Given the description of an element on the screen output the (x, y) to click on. 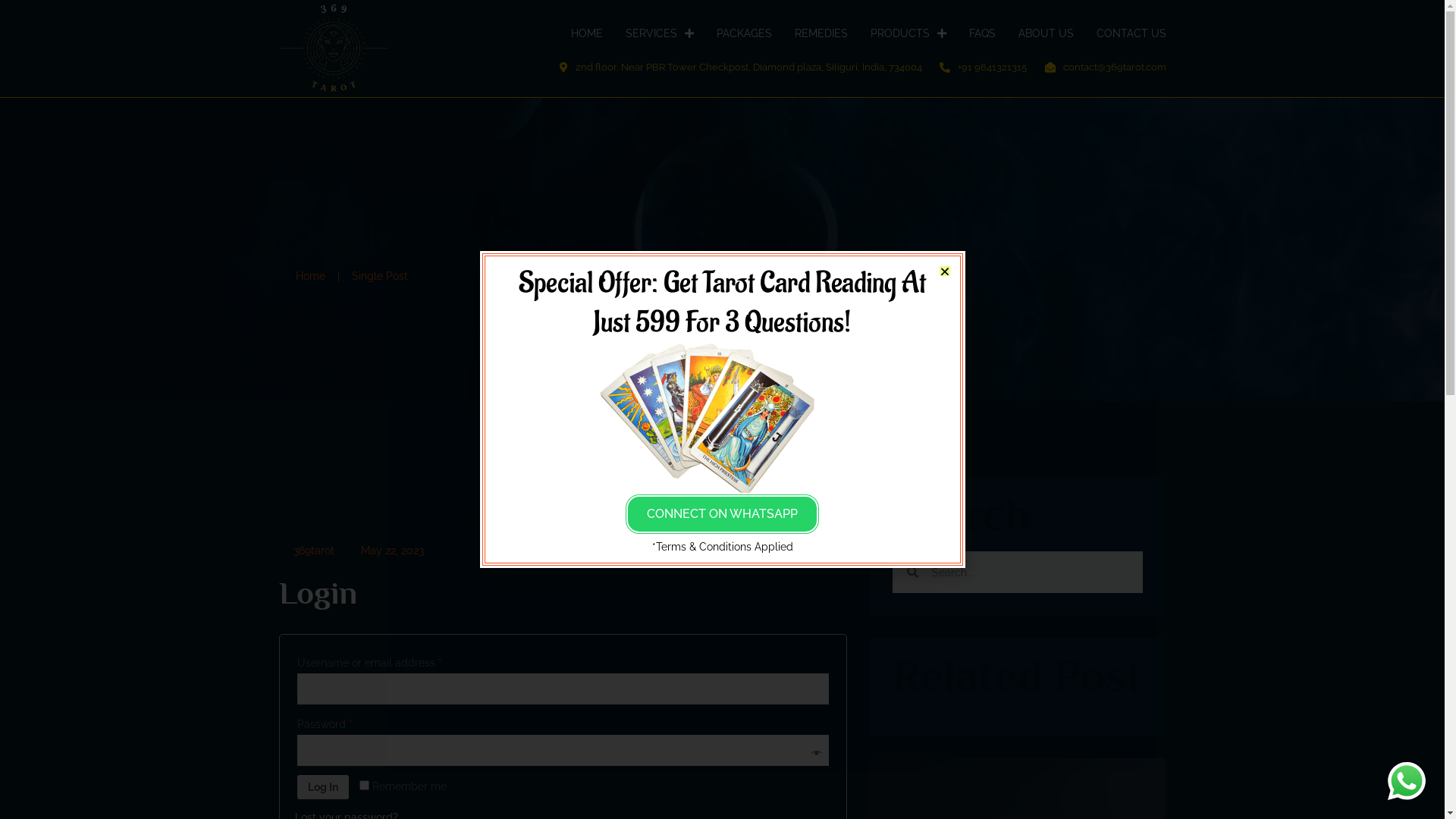
HOME Element type: text (586, 33)
Home Element type: text (302, 275)
CONNECT ON WHATSAPP Element type: text (722, 513)
REMEDIES Element type: text (820, 33)
PRODUCTS Element type: text (908, 33)
SERVICES Element type: text (658, 33)
contact@369tarot.com Element type: text (1103, 67)
Search Element type: hover (1030, 572)
369tarot Element type: text (306, 550)
+91 9641321315 Element type: text (982, 67)
May 22, 2023 Element type: text (384, 550)
PACKAGES Element type: text (743, 33)
FAQS Element type: text (982, 33)
CONTACT US Element type: text (1131, 33)
Log In Element type: text (322, 786)
ABOUT US Element type: text (1045, 33)
